Given the description of an element on the screen output the (x, y) to click on. 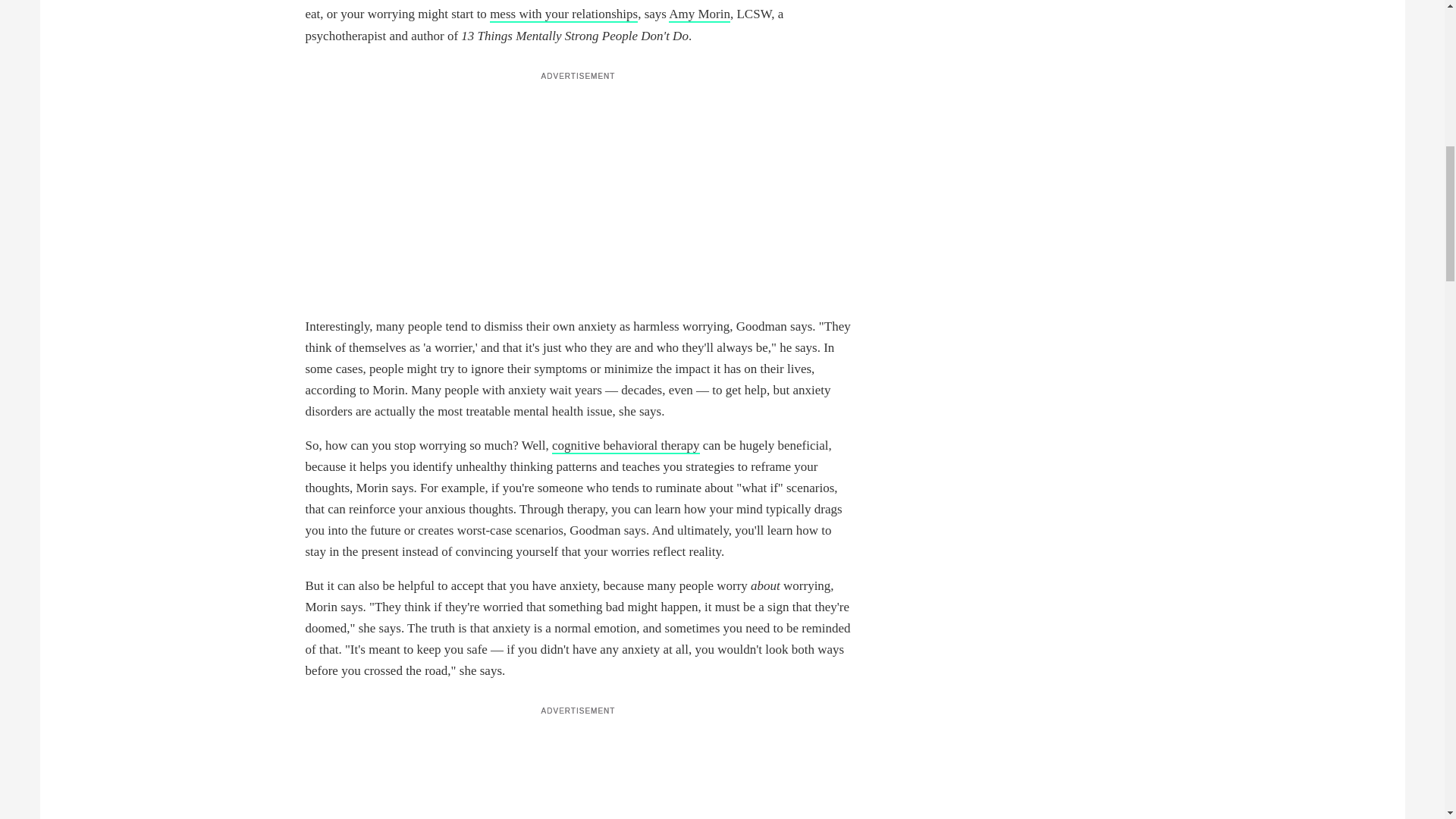
cognitive behavioral therapy (624, 446)
mess with your relationships (563, 14)
Amy Morin (699, 14)
